Given the description of an element on the screen output the (x, y) to click on. 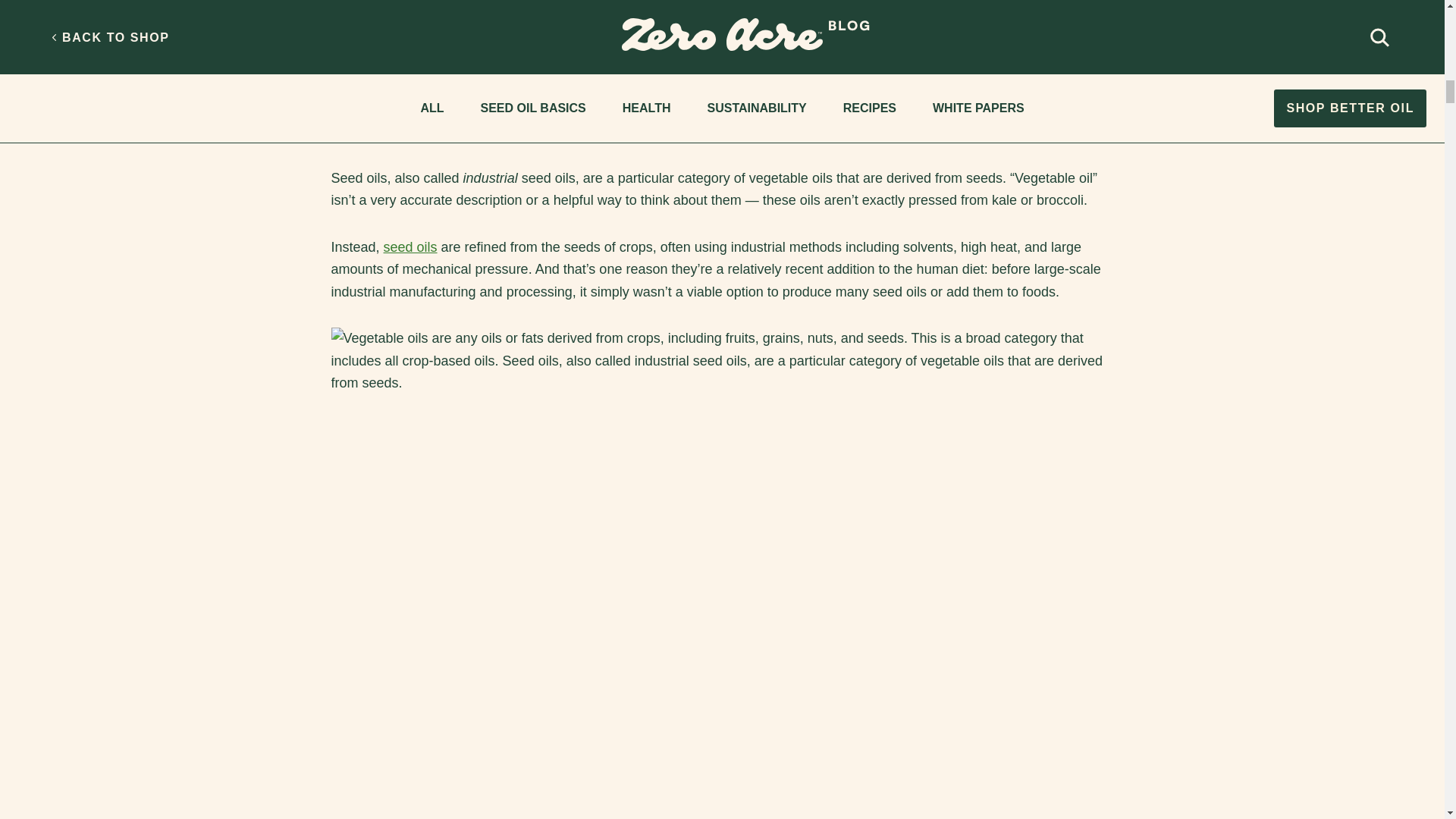
oils or fats (499, 109)
